Given the description of an element on the screen output the (x, y) to click on. 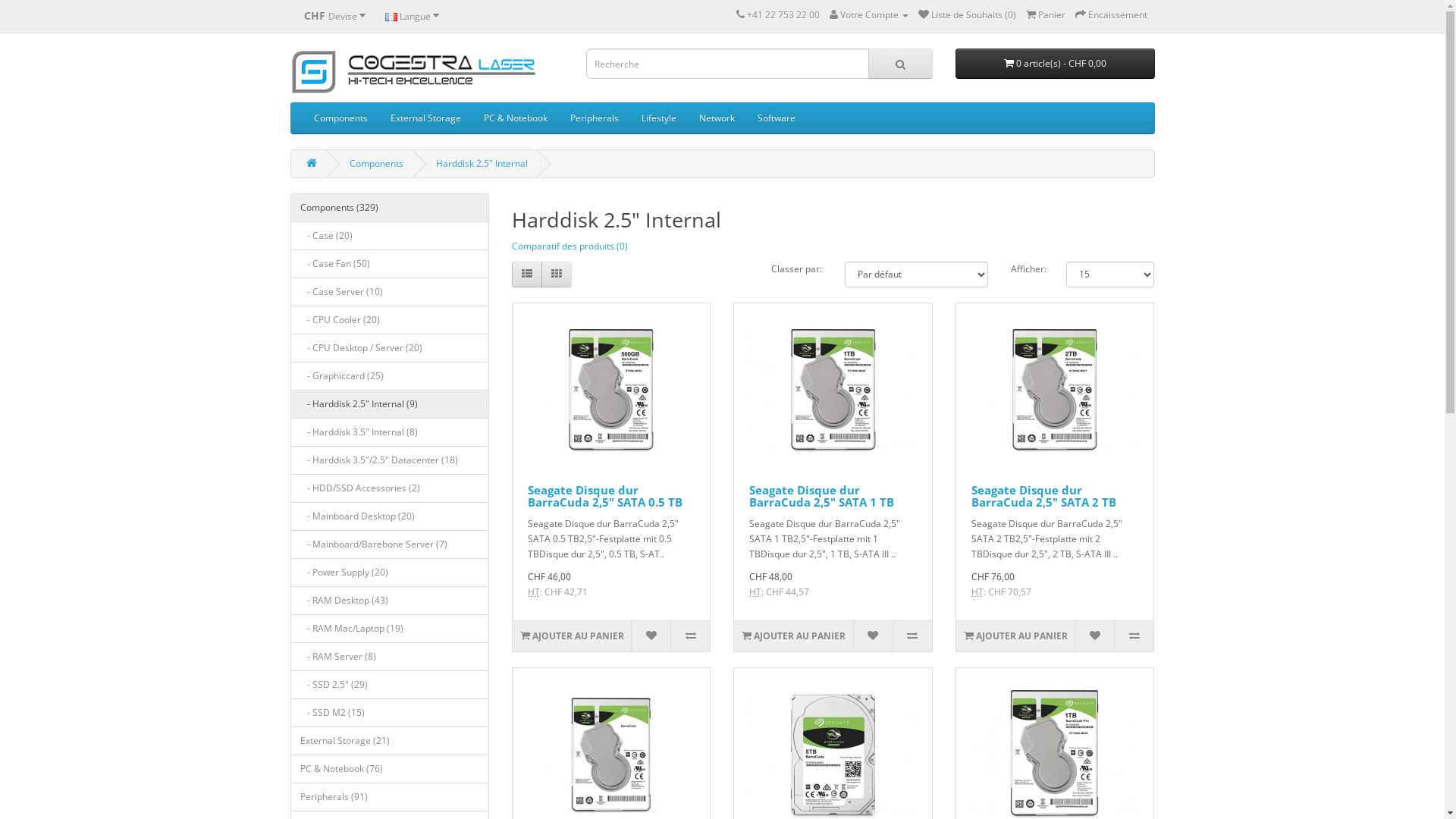
Seagate Disque dur BarraCuda 2,5" SATA 2 TB Element type: text (1043, 496)
   - RAM Server (8) Element type: text (389, 656)
   - Case Server (10) Element type: text (389, 291)
AJOUTER AU PANIER Element type: text (1015, 636)
Seagate Disque dur BarraCuda 2,5" SATA 0.5 TB Element type: text (604, 496)
Cogestra-Laser SA Element type: hover (412, 71)
External Storage (21) Element type: text (389, 740)
   - Power Supply (20) Element type: text (389, 572)
   - RAM Desktop (43) Element type: text (389, 600)
Lifestyle Element type: text (658, 118)
Seagate Disque dur BarraCuda 2,5" SATA 1 TB Element type: hover (832, 389)
PC & Notebook Element type: text (514, 118)
Seagate Disque dur BarraCuda 2,5" SATA 2 TB Element type: hover (1054, 389)
   - RAM Mac/Laptop (19) Element type: text (389, 628)
Components Element type: text (339, 118)
Comparatif des produits (0) Element type: text (569, 245)
Harddisk 2.5" Internal Element type: text (481, 162)
Votre Compte Element type: text (868, 14)
Network Element type: text (716, 118)
AJOUTER AU PANIER Element type: text (793, 636)
External Storage Element type: text (425, 118)
Software Element type: text (776, 118)
Langue Element type: text (411, 15)
   - HDD/SSD Accessories (2) Element type: text (389, 487)
   - Mainboard/Barebone Server (7) Element type: text (389, 544)
CHF Devise Element type: text (334, 15)
Peripherals Element type: text (593, 118)
Liste de Souhaits (0) Element type: text (966, 14)
   - SSD M2 (15) Element type: text (389, 712)
   - CPU Cooler (20) Element type: text (389, 319)
Encaissement Element type: text (1111, 14)
   - Case (20) Element type: text (389, 235)
PC & Notebook (76) Element type: text (389, 768)
Seagate Disque dur BarraCuda 2,5" SATA 0.5 TB Element type: hover (610, 389)
   - Mainboard Desktop (20) Element type: text (389, 516)
   - Harddisk 3.5"/2.5" Datacenter (18) Element type: text (389, 459)
AJOUTER AU PANIER Element type: text (571, 636)
Panier Element type: text (1044, 14)
Components (329) Element type: text (389, 207)
Seagate Disque dur BarraCuda 2,5" SATA 1 TB Element type: text (821, 496)
   - Harddisk 2.5" Internal (9) Element type: text (389, 403)
Components Element type: text (375, 162)
Peripherals (91) Element type: text (389, 796)
   - Graphiccard (25) Element type: text (389, 375)
   - Case Fan (50) Element type: text (389, 263)
0 article(s) - CHF 0,00 Element type: text (1054, 63)
   - SSD 2.5" (29) Element type: text (389, 684)
   - CPU Desktop / Server (20) Element type: text (389, 347)
   - Harddisk 3.5" Internal (8) Element type: text (389, 431)
